Given the description of an element on the screen output the (x, y) to click on. 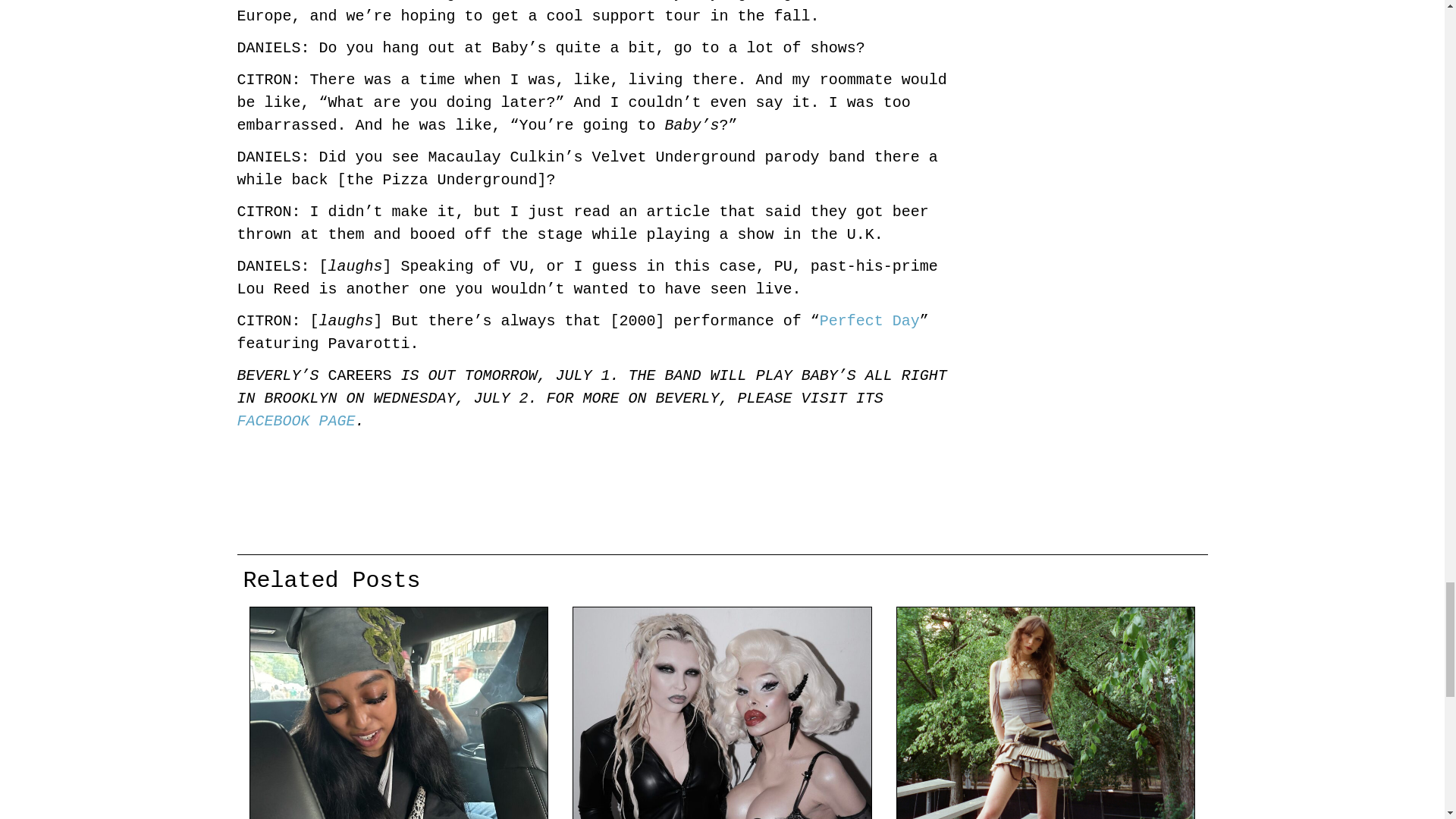
Perfect Day (869, 321)
FACEBOOK PAGE (295, 420)
